Given the description of an element on the screen output the (x, y) to click on. 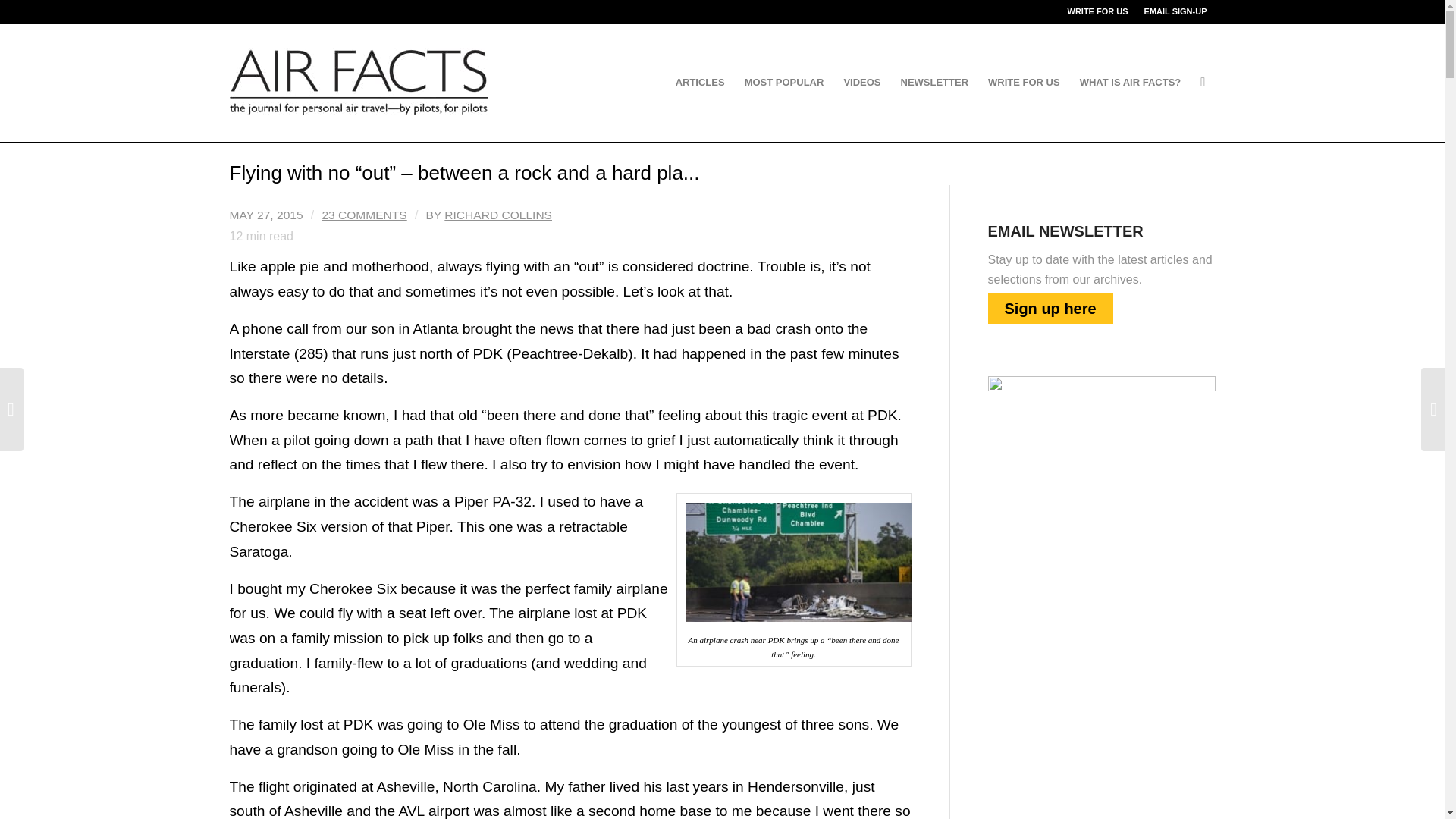
WRITE FOR US (1097, 11)
WHAT IS AIR FACTS? (1130, 82)
EMAIL SIGN-UP (1175, 11)
